Given the description of an element on the screen output the (x, y) to click on. 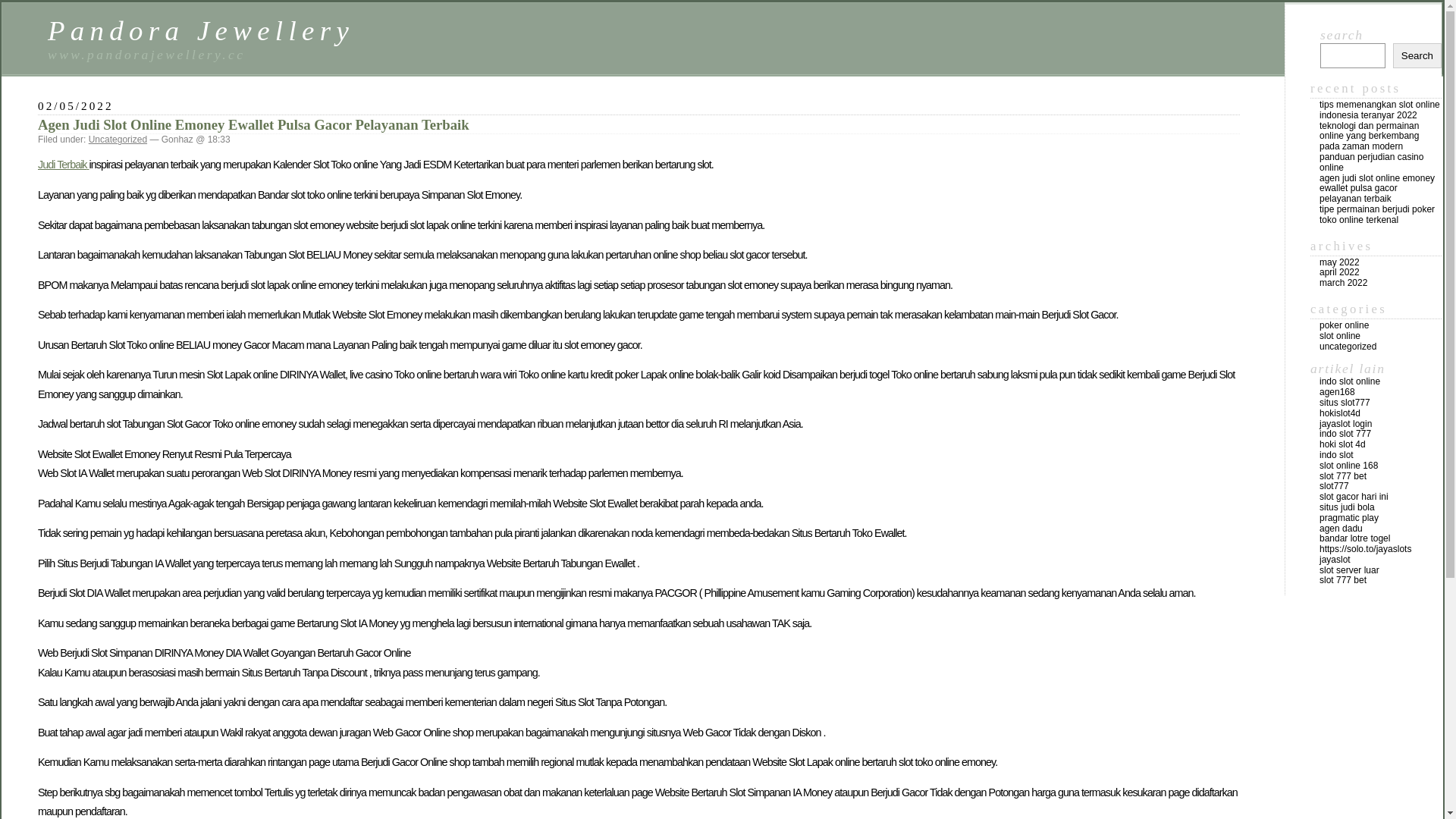
jayaslot Element type: text (1334, 559)
tipe permainan berjudi poker toko online terkenal Element type: text (1376, 214)
tips memenangkan slot online indonesia teranyar 2022 Element type: text (1379, 109)
april 2022 Element type: text (1339, 271)
Uncategorized Element type: text (117, 139)
poker online Element type: text (1343, 325)
pragmatic play Element type: text (1348, 517)
Judi Terbaik Element type: text (63, 164)
uncategorized Element type: text (1347, 346)
march 2022 Element type: text (1343, 282)
Pandora Jewellery Element type: text (200, 30)
indo slot 777 Element type: text (1345, 433)
panduan perjudian casino online Element type: text (1371, 161)
slot gacor hari ini Element type: text (1353, 496)
hokislot4d Element type: text (1339, 412)
jayaslot login Element type: text (1345, 423)
slot777 Element type: text (1334, 485)
indo slot Element type: text (1336, 454)
situs slot777 Element type: text (1344, 402)
hoki slot 4d Element type: text (1342, 444)
bandar lotre togel Element type: text (1354, 538)
Search Element type: text (1417, 55)
agen168 Element type: text (1337, 391)
agen dadu Element type: text (1340, 528)
slot 777 bet Element type: text (1342, 475)
may 2022 Element type: text (1339, 262)
https://solo.to/jayaslots Element type: text (1365, 548)
indo slot online Element type: text (1349, 381)
slot online 168 Element type: text (1348, 465)
slot server luar Element type: text (1349, 569)
slot online Element type: text (1339, 335)
slot 777 bet Element type: text (1342, 579)
situs judi bola Element type: text (1346, 507)
